Given the description of an element on the screen output the (x, y) to click on. 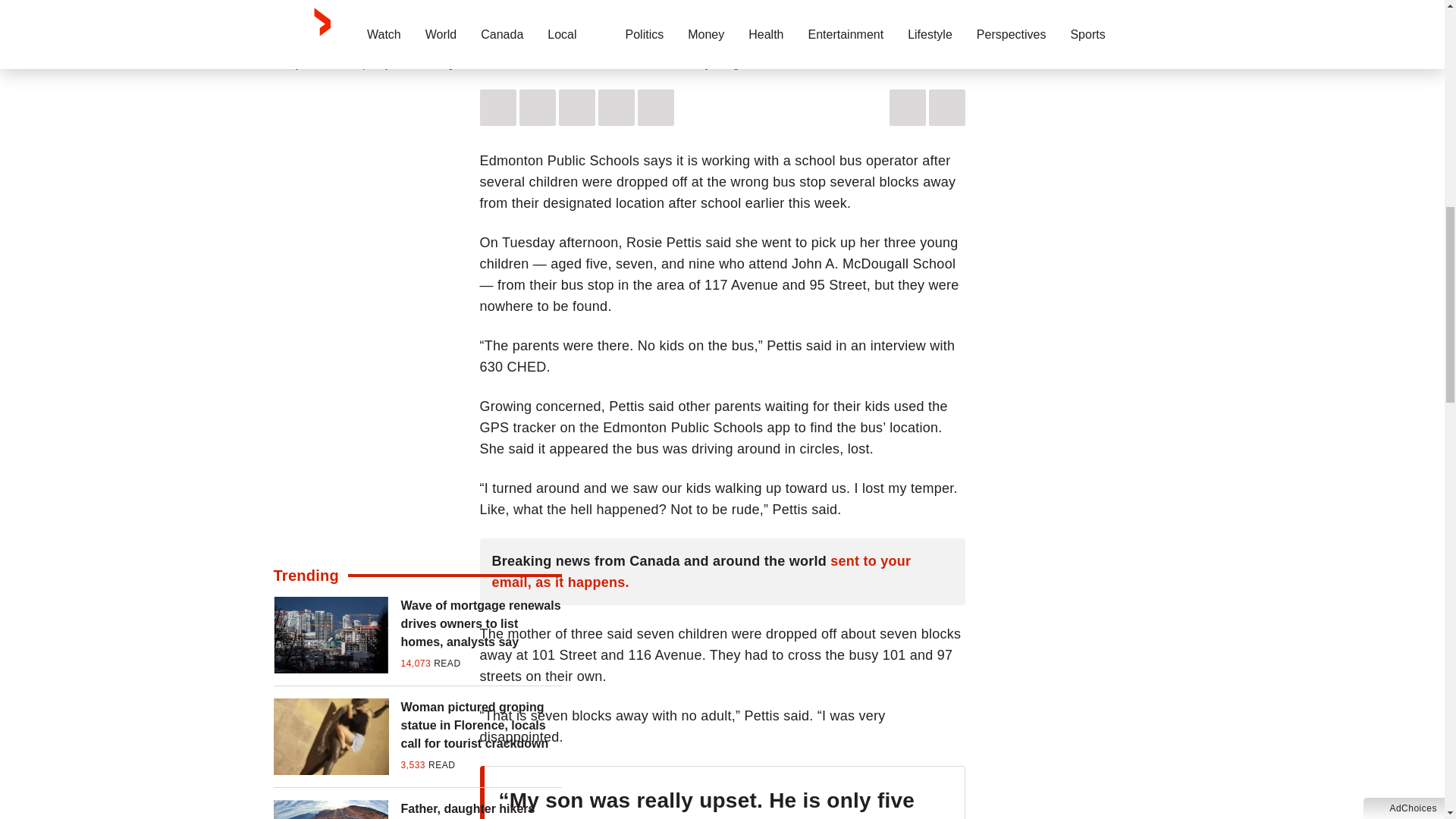
View image in full screen (721, 22)
